Given the description of an element on the screen output the (x, y) to click on. 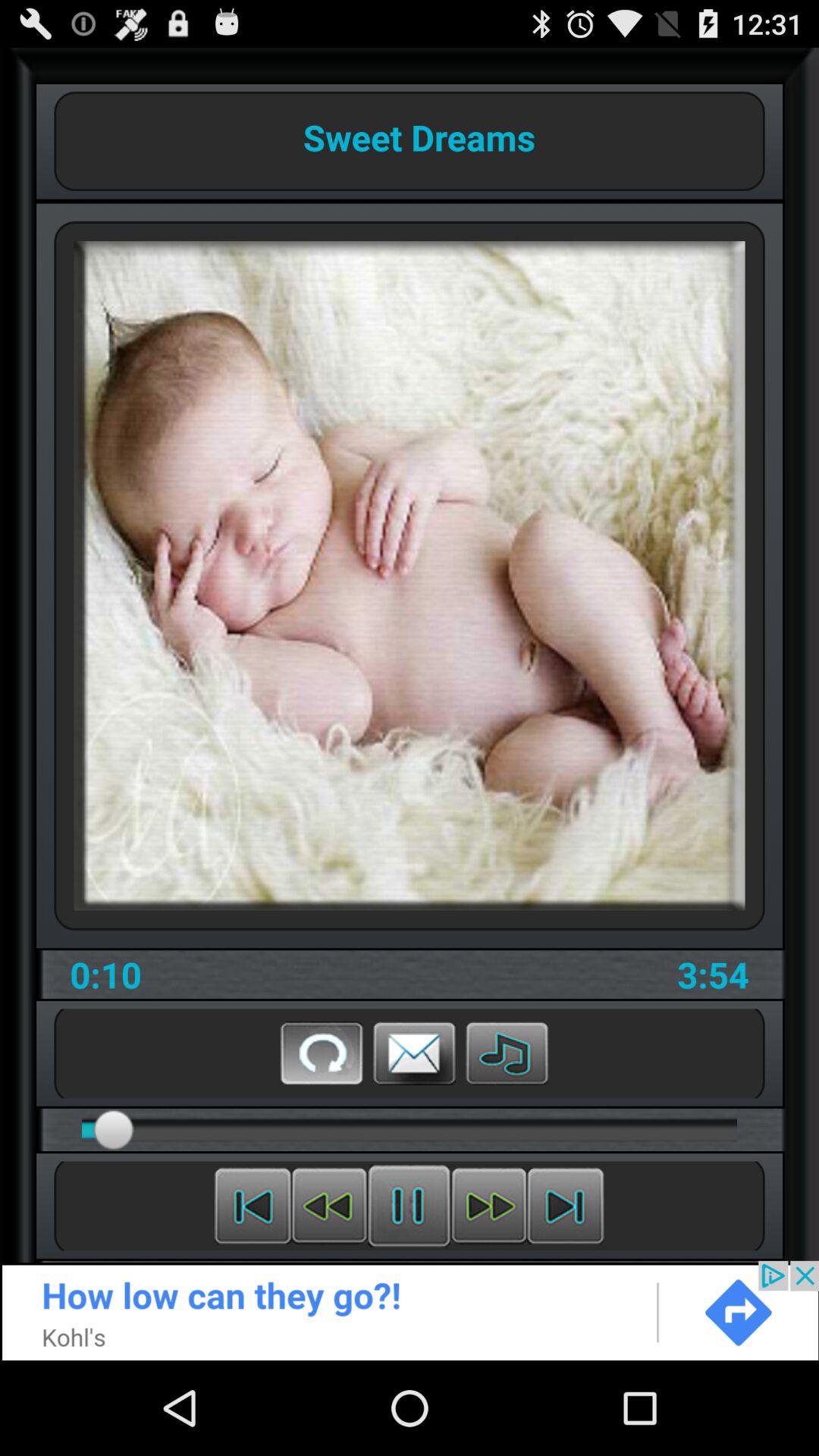
next track (565, 1205)
